Given the description of an element on the screen output the (x, y) to click on. 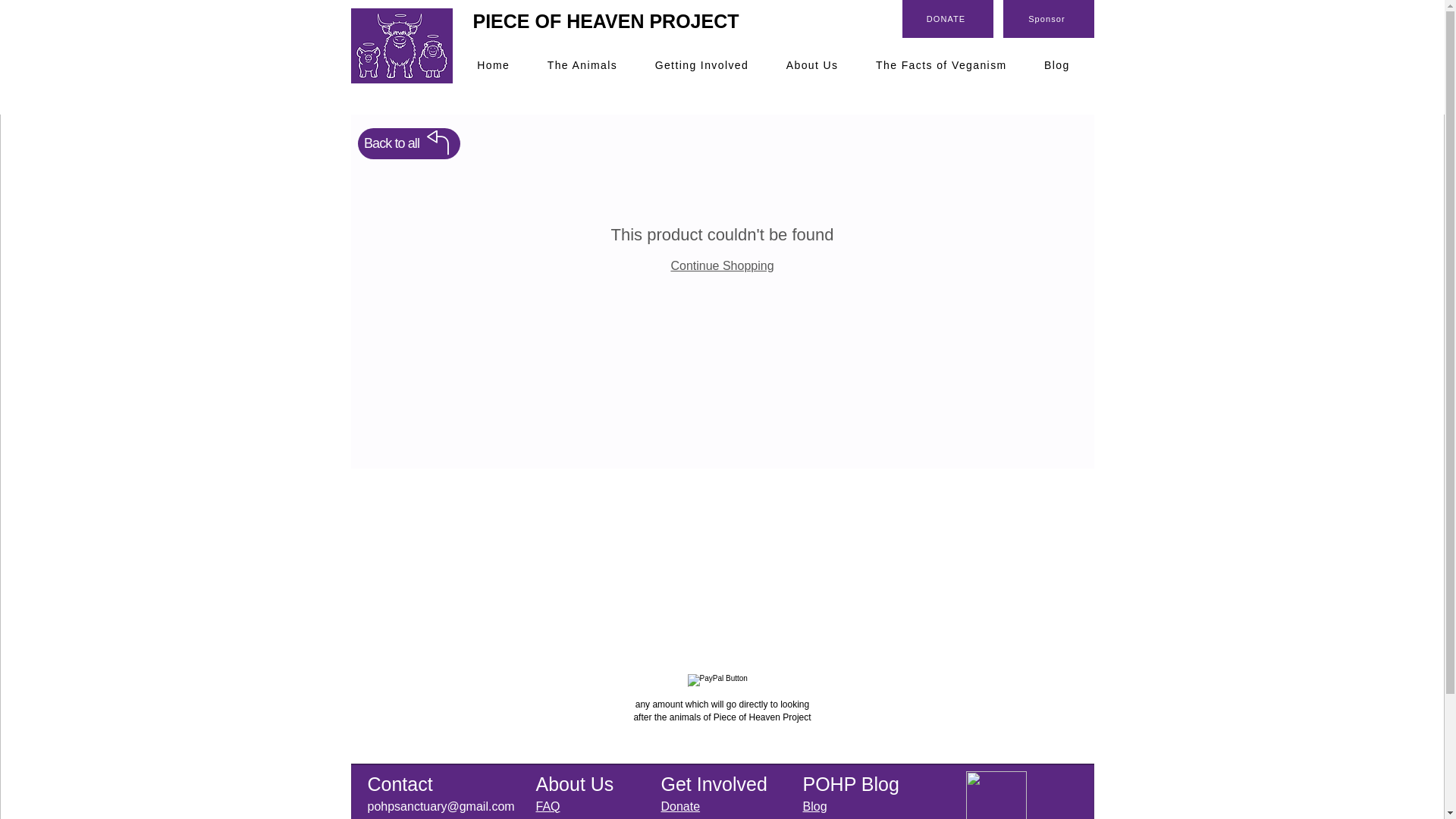
About Us (812, 65)
Donate (680, 806)
Getting Involved (702, 65)
DONATE (947, 18)
FAQ (547, 806)
The Facts of Veganism (941, 65)
Sponsor (1048, 18)
Back to all (409, 142)
Blog (1056, 65)
Provide (681, 818)
